Given the description of an element on the screen output the (x, y) to click on. 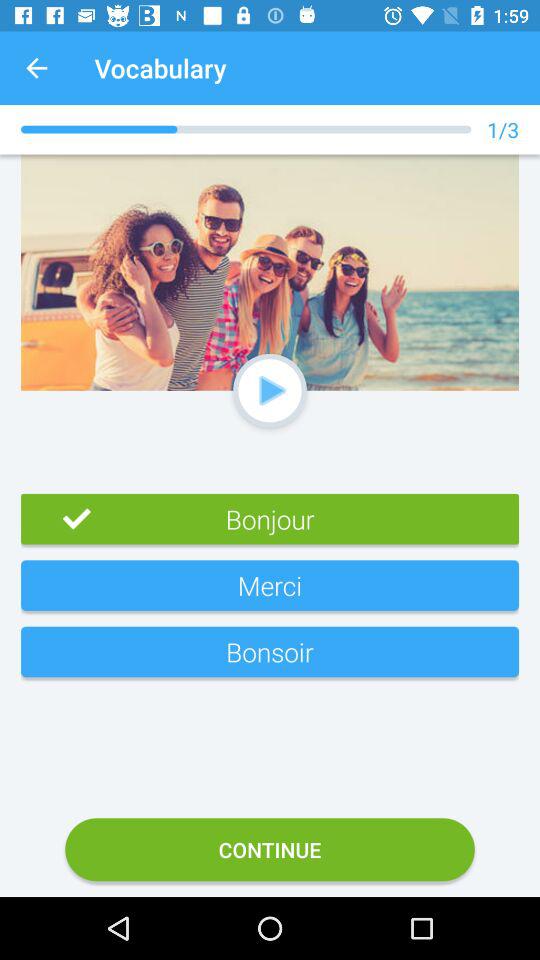
tap app next to vocabulary item (36, 68)
